Given the description of an element on the screen output the (x, y) to click on. 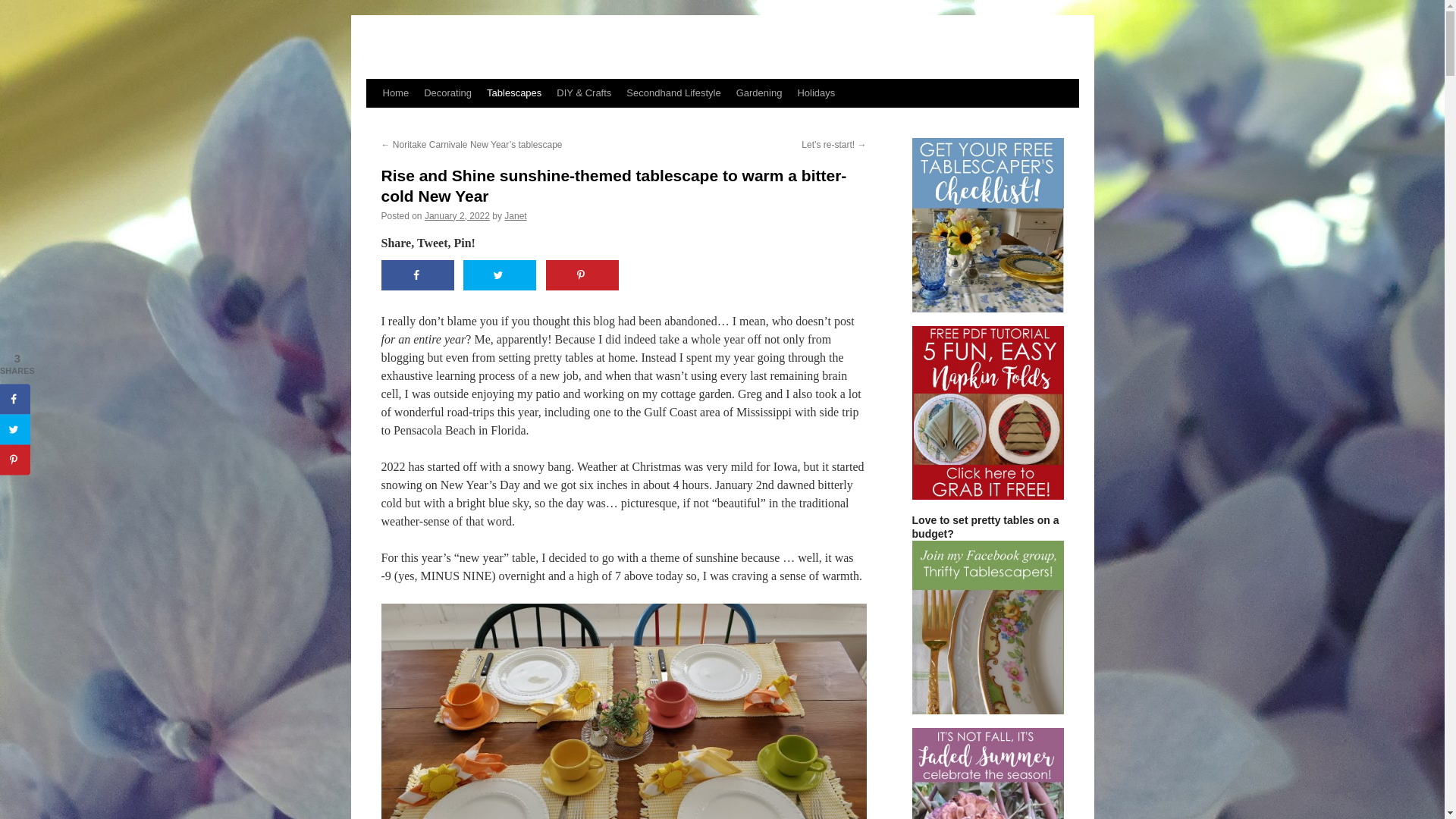
Gardening (759, 92)
Secondhand Lifestyle (673, 92)
VFCstyle.com (440, 50)
January 2, 2022 (457, 215)
Home (395, 92)
Holidays (816, 92)
Share on Facebook (416, 275)
View all posts by Janet (514, 215)
Decorating (447, 92)
Tablescapes (513, 92)
Share on Twitter (499, 275)
6:14 pm (457, 215)
VFCstyle.com (440, 50)
Janet (514, 215)
Save to Pinterest (582, 275)
